Given the description of an element on the screen output the (x, y) to click on. 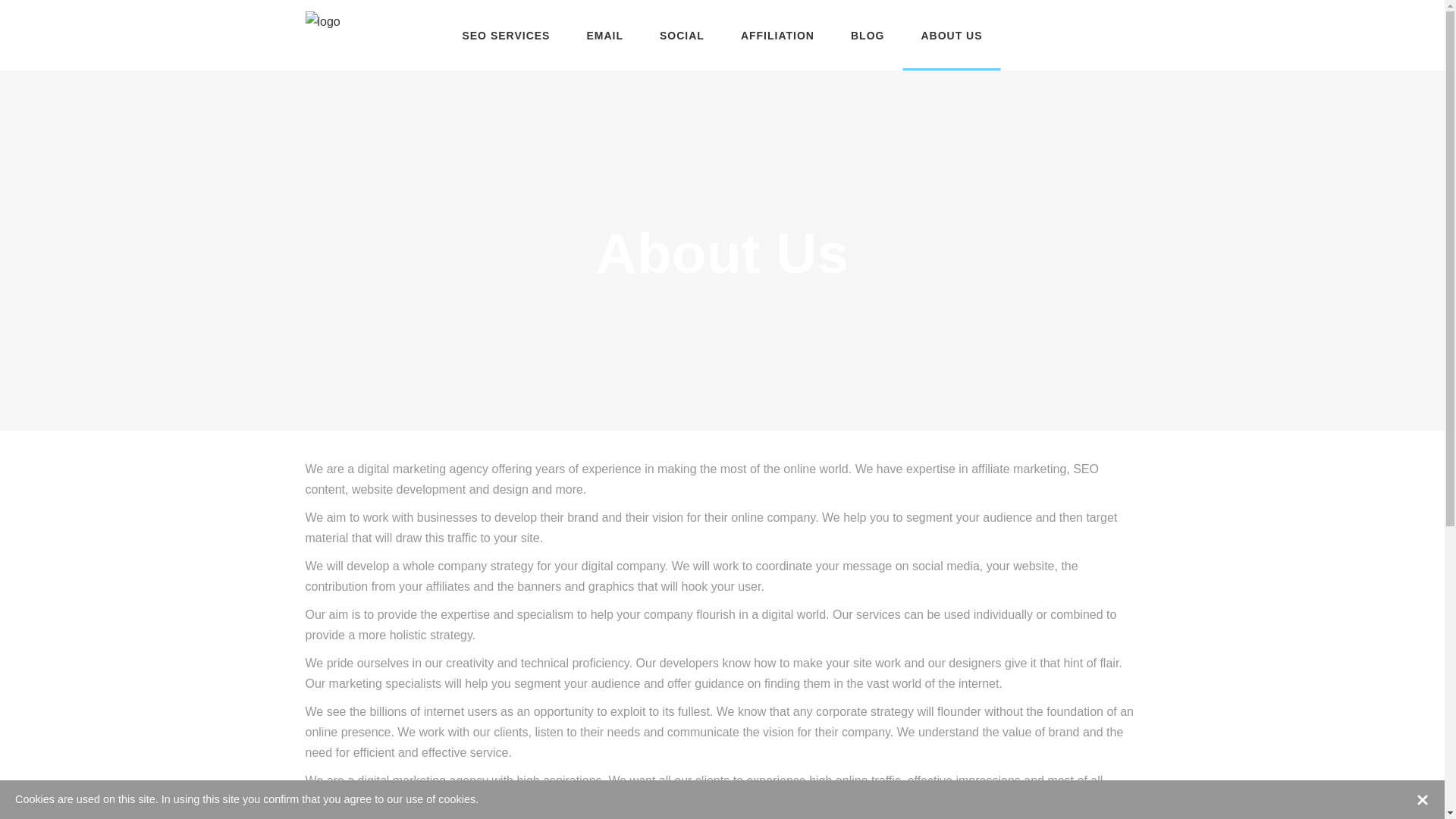
SOCIAL Element type: text (681, 35)
ABOUT US Element type: text (951, 35)
BLOG Element type: text (867, 35)
AFFILIATION Element type: text (777, 35)
EMAIL Element type: text (604, 35)
SEO SERVICES Element type: text (505, 35)
